Given the description of an element on the screen output the (x, y) to click on. 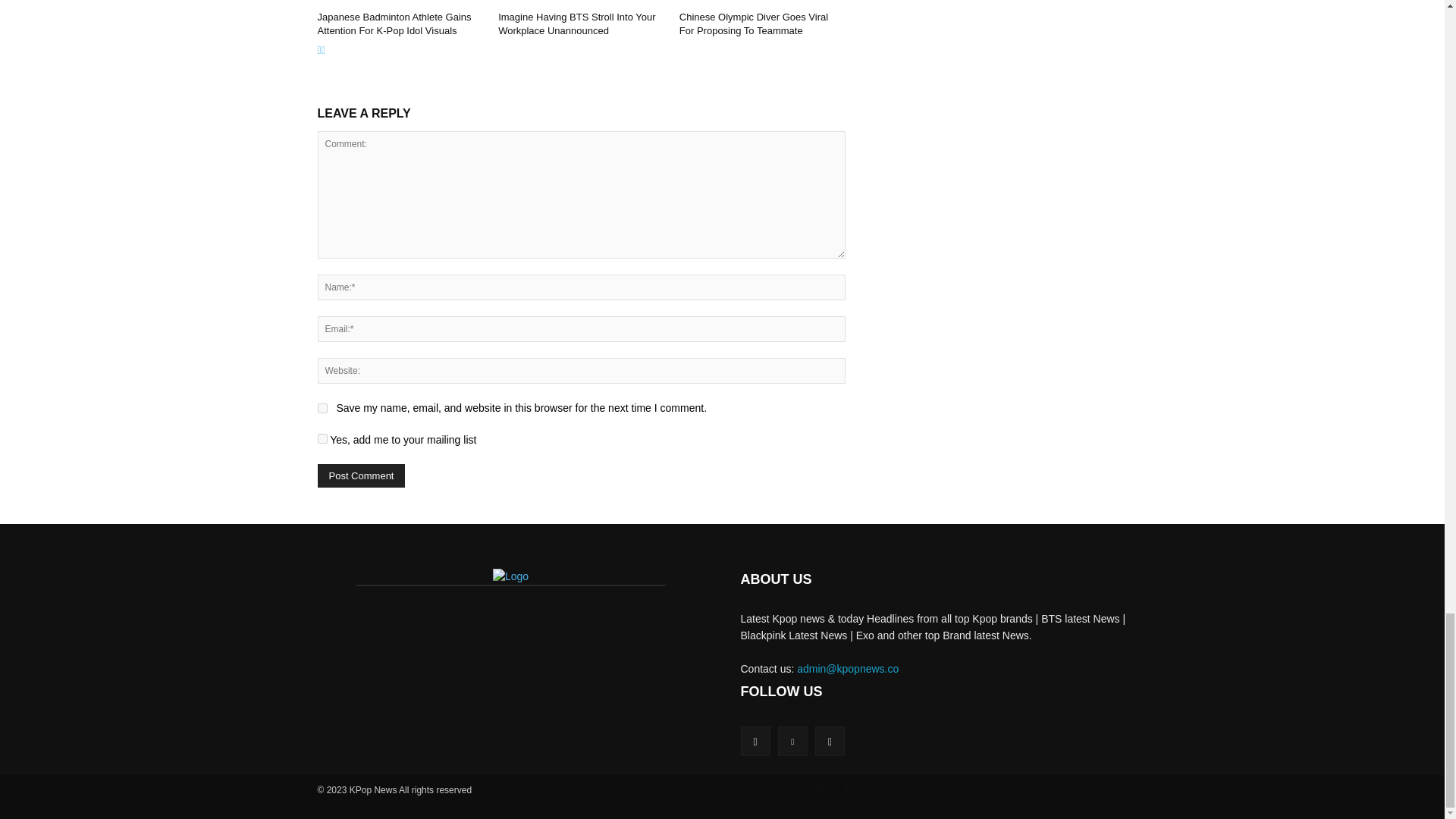
1 (321, 438)
yes (321, 408)
Post Comment (360, 475)
